Given the description of an element on the screen output the (x, y) to click on. 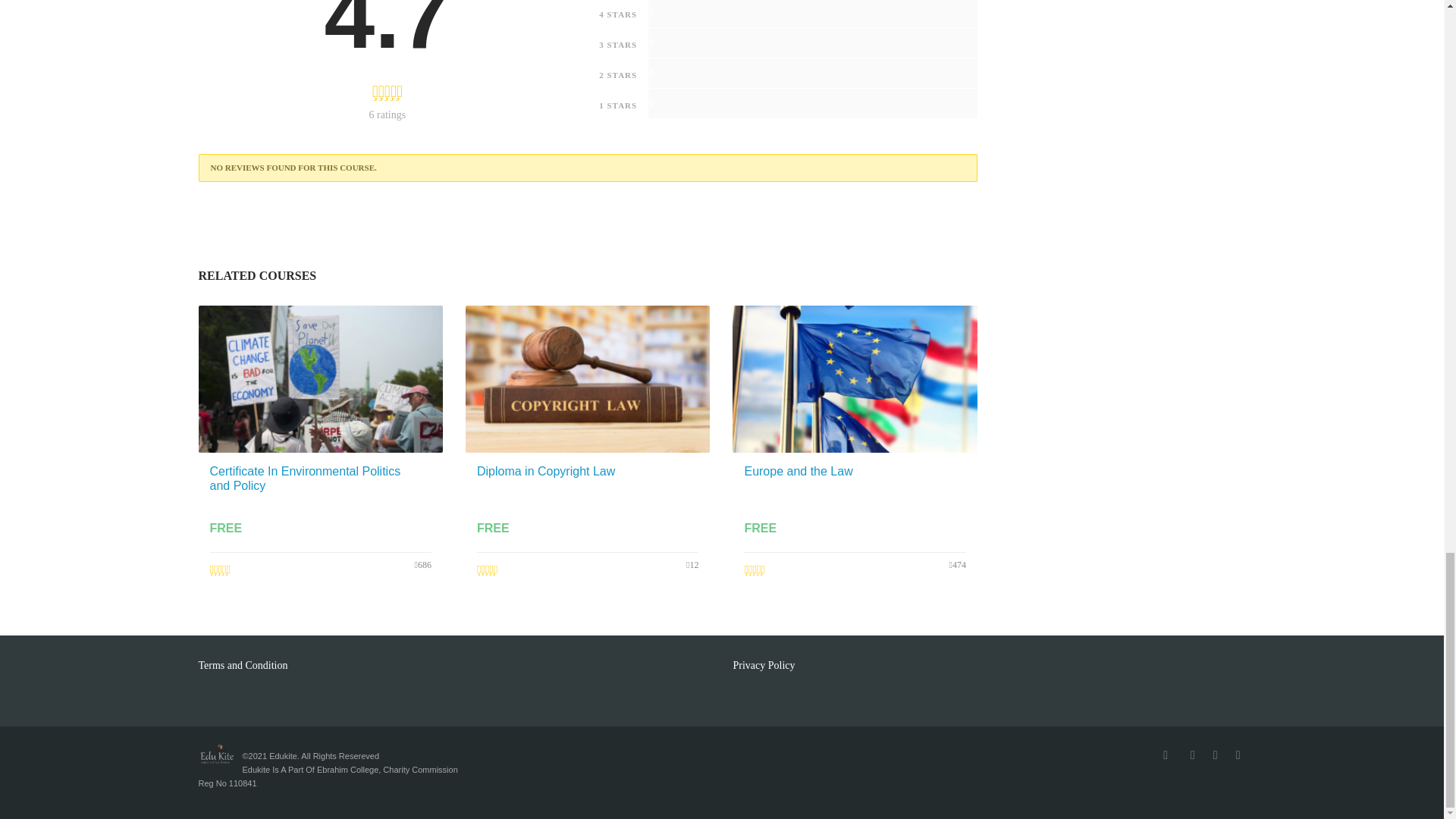
facebook (1165, 754)
Europe and the Law (797, 470)
Certificate In Environmental Politics and Policy (304, 477)
Certificate In Environmental Politics and Policy (304, 477)
Diploma in Copyright Law (545, 470)
Terms and Condition  (244, 665)
Europe and the Law (797, 470)
Diploma in Copyright Law (545, 470)
